Given the description of an element on the screen output the (x, y) to click on. 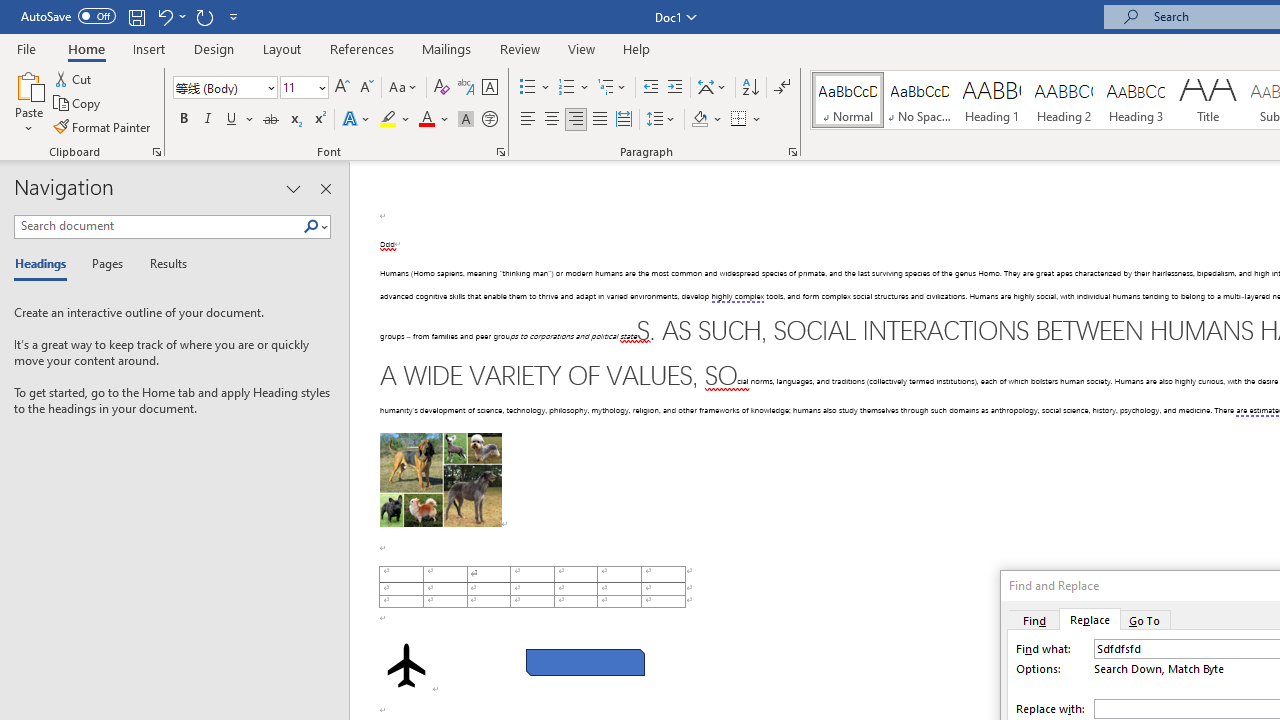
Heading 2 (1063, 100)
Underline (232, 119)
More Options (757, 119)
Search document (157, 226)
Font Size (297, 87)
Repeat Paragraph Alignment (204, 15)
Superscript (319, 119)
Phonetic Guide... (465, 87)
Shading RGB(0, 0, 0) (699, 119)
Copy (78, 103)
Align Left (527, 119)
Distributed (623, 119)
Morphological variation in six dogs (440, 479)
Home (86, 48)
Heading 3 (1135, 100)
